Given the description of an element on the screen output the (x, y) to click on. 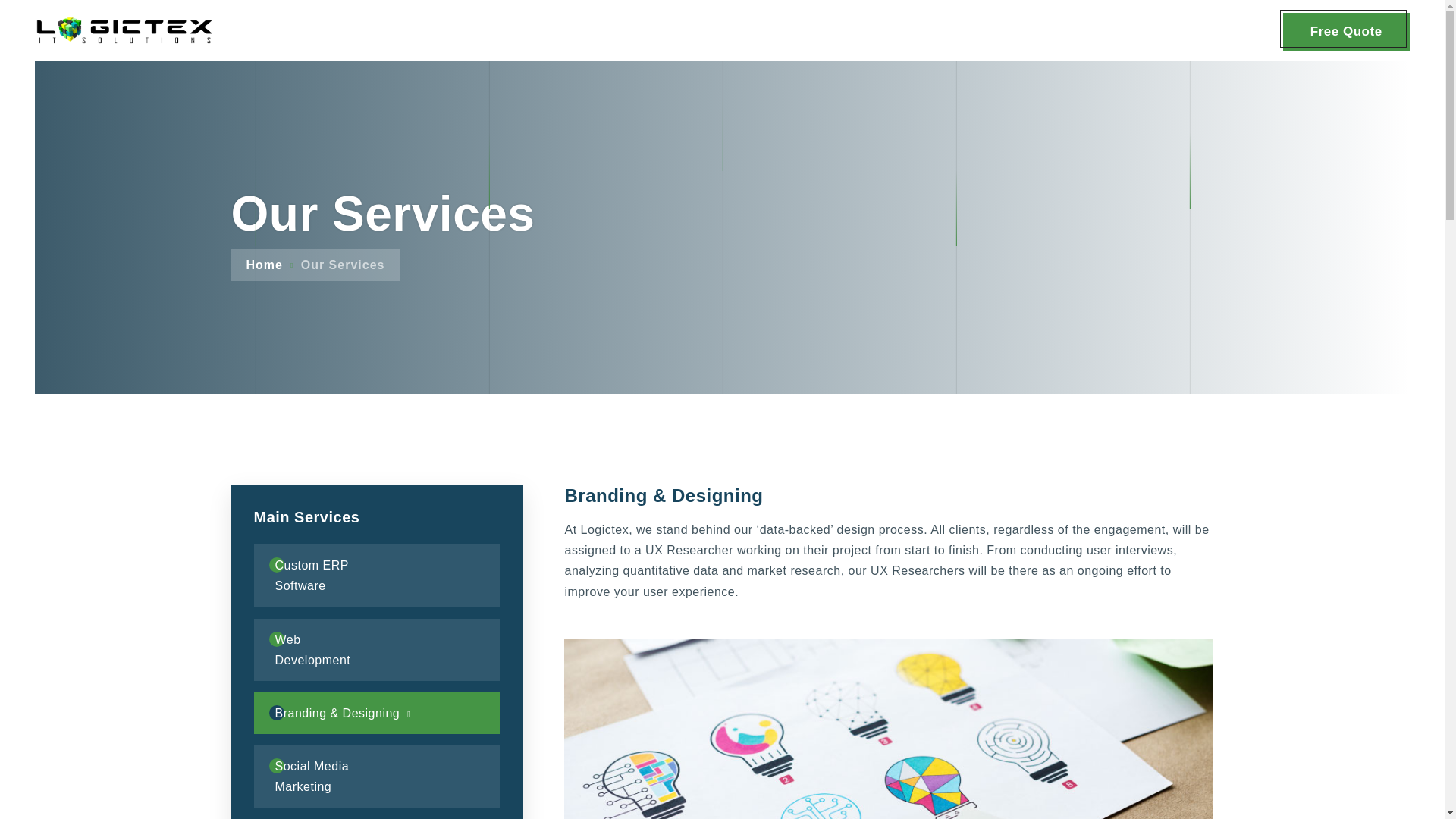
Free Quote (1345, 31)
Social Media Marketing (339, 775)
Home (264, 264)
Our Services (343, 264)
Custom ERP Software (336, 575)
Web Development (325, 649)
